Given the description of an element on the screen output the (x, y) to click on. 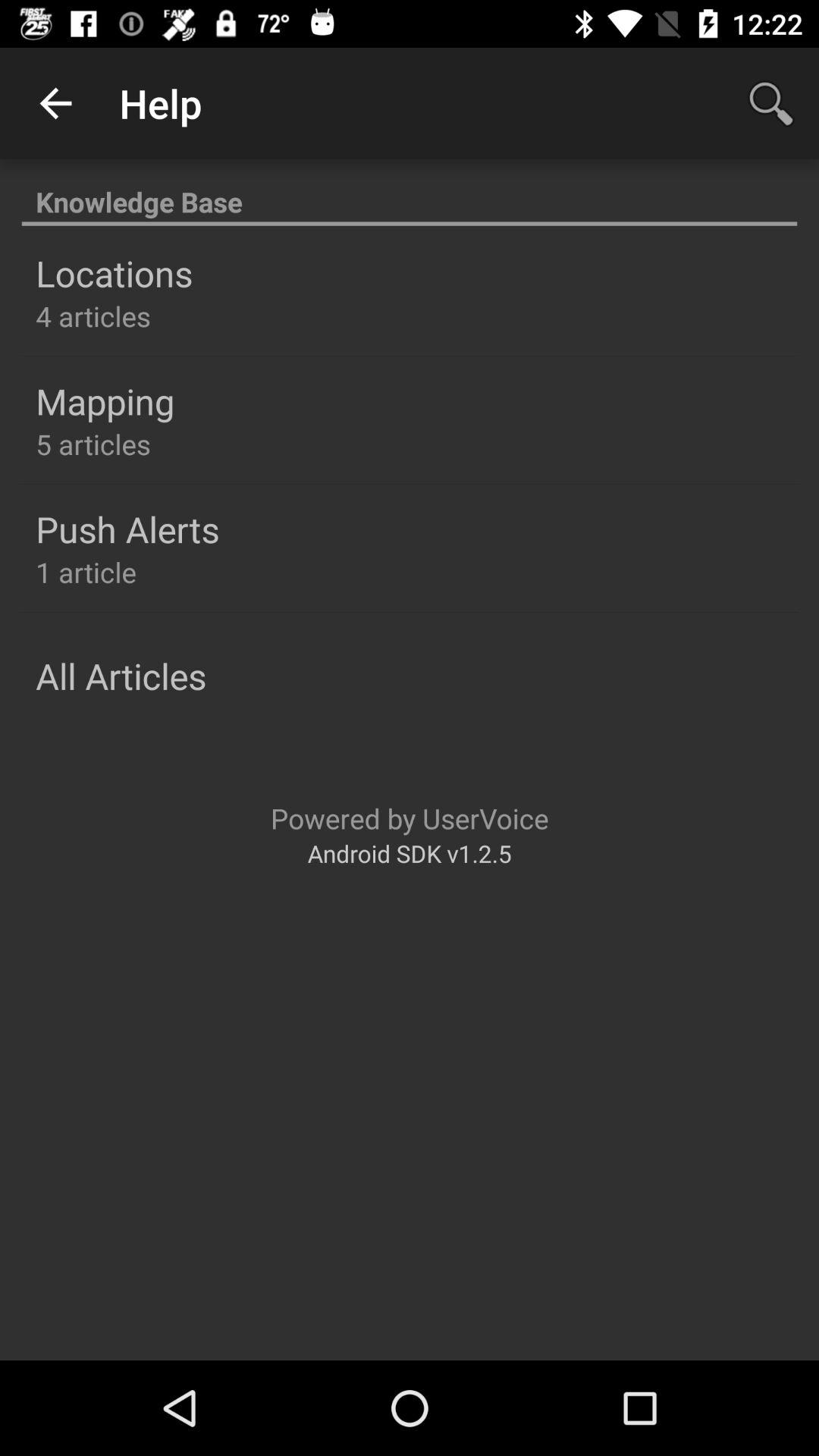
turn off the android sdk v1 item (409, 853)
